Given the description of an element on the screen output the (x, y) to click on. 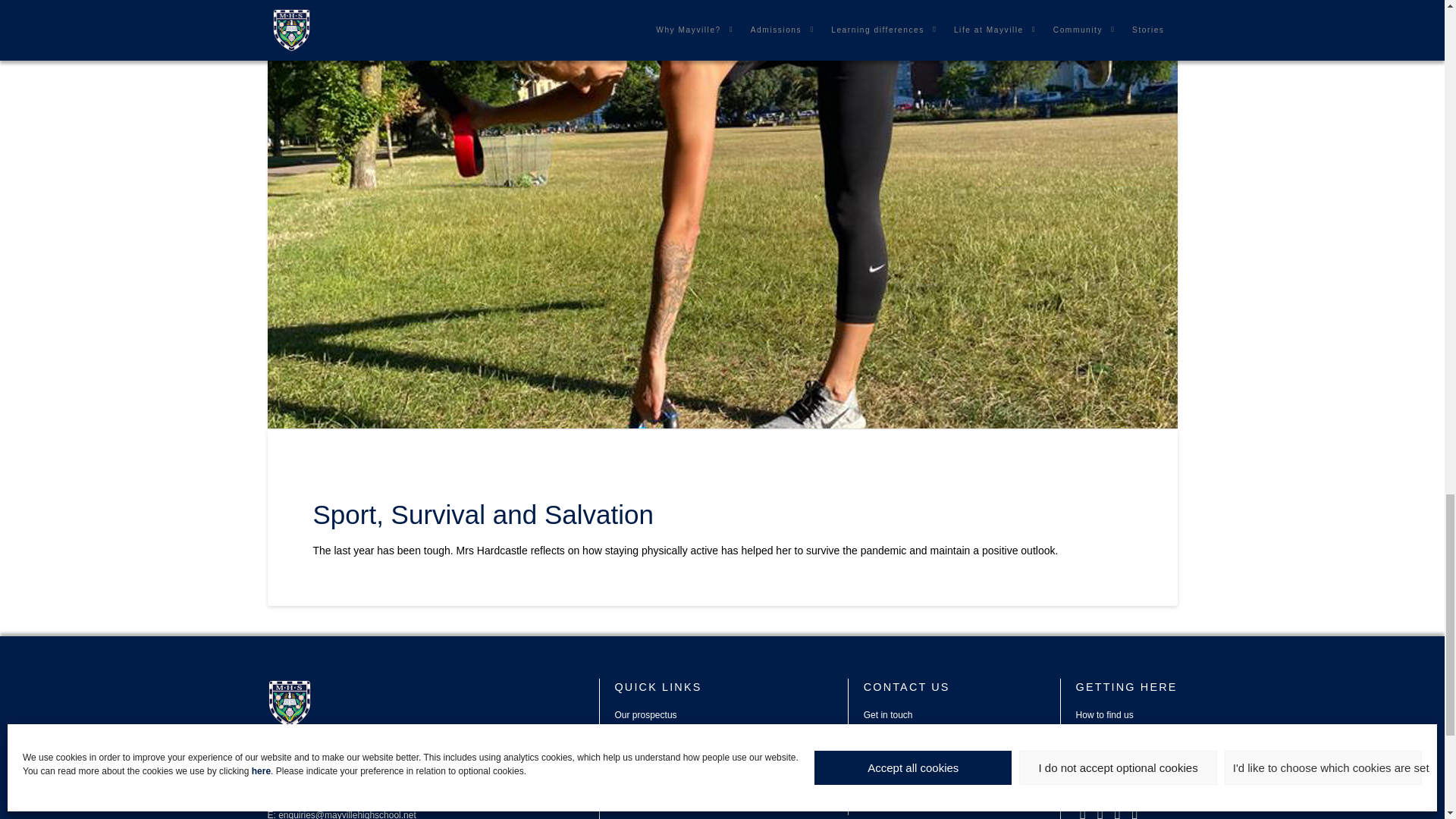
Permalink to: "Sport, Survival and Salvation" (482, 514)
